Given the description of an element on the screen output the (x, y) to click on. 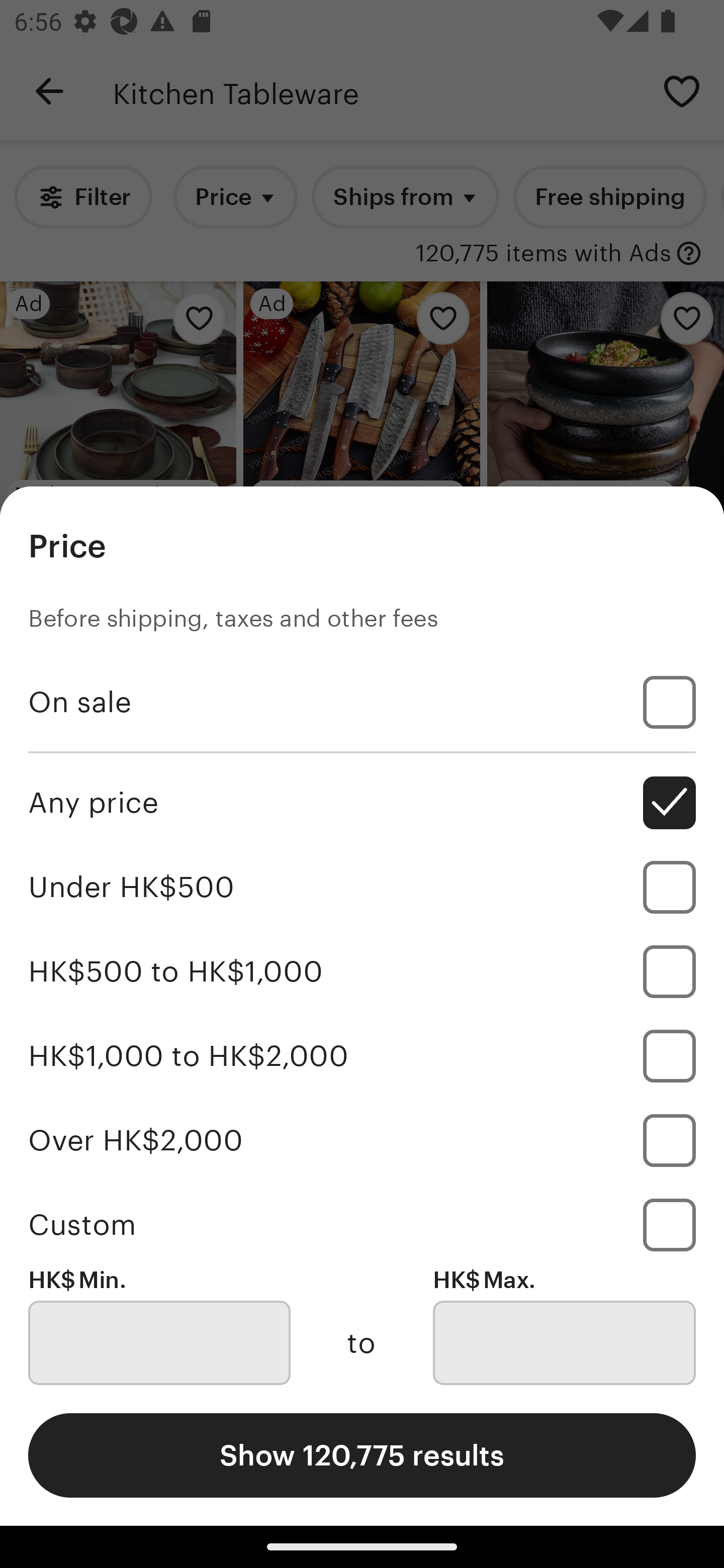
On sale (362, 702)
Any price (362, 802)
Under HK$500 (362, 887)
HK$500 to HK$1,000 (362, 970)
HK$1,000 to HK$2,000 (362, 1054)
Over HK$2,000 (362, 1139)
Custom (362, 1224)
Show 120,775 results (361, 1454)
